Given the description of an element on the screen output the (x, y) to click on. 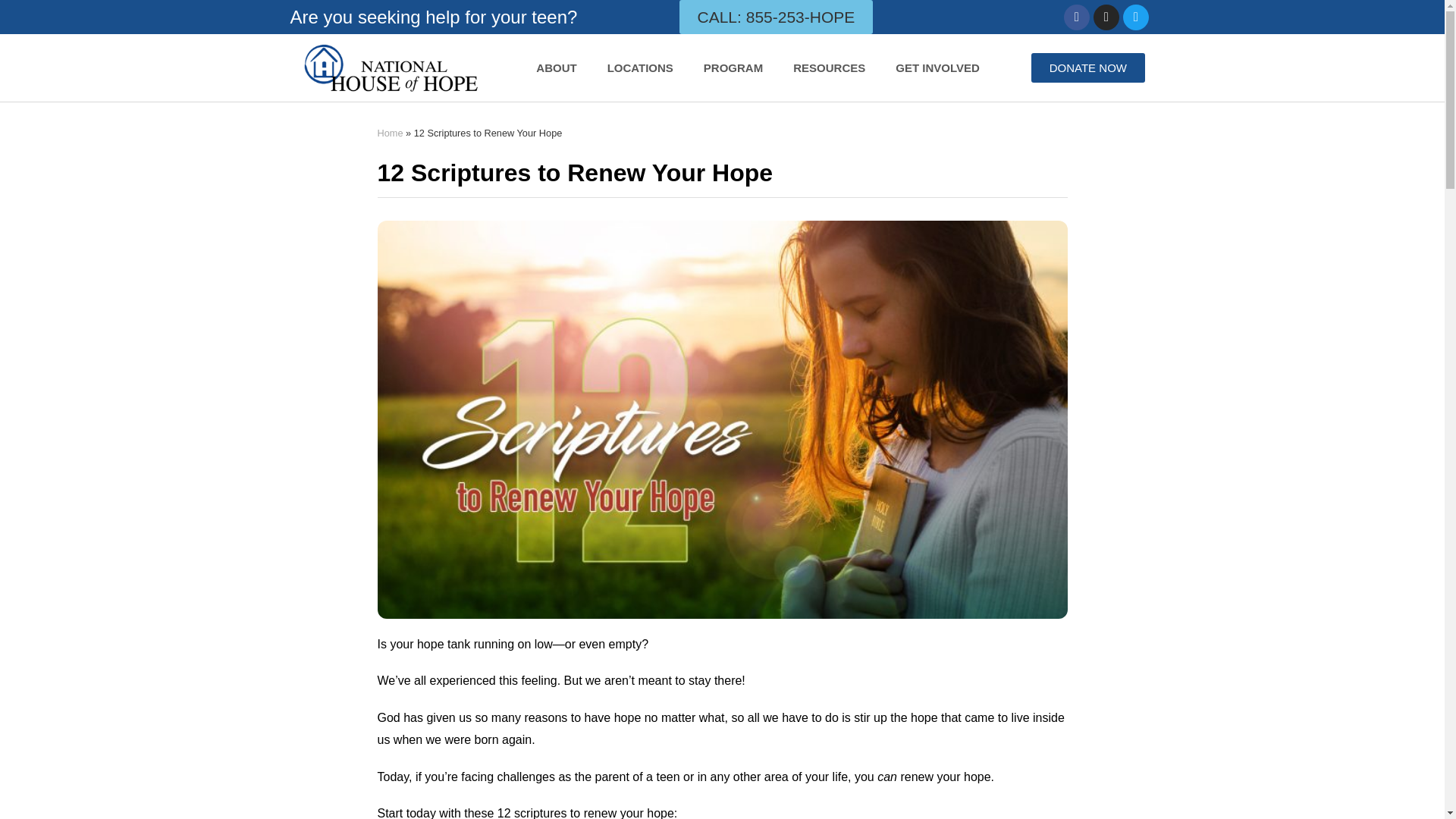
GET INVOLVED (937, 67)
CALL: 855-253-HOPE (776, 17)
PROGRAM (732, 67)
LOCATIONS (640, 67)
RESOURCES (828, 67)
ABOUT (556, 67)
